Given the description of an element on the screen output the (x, y) to click on. 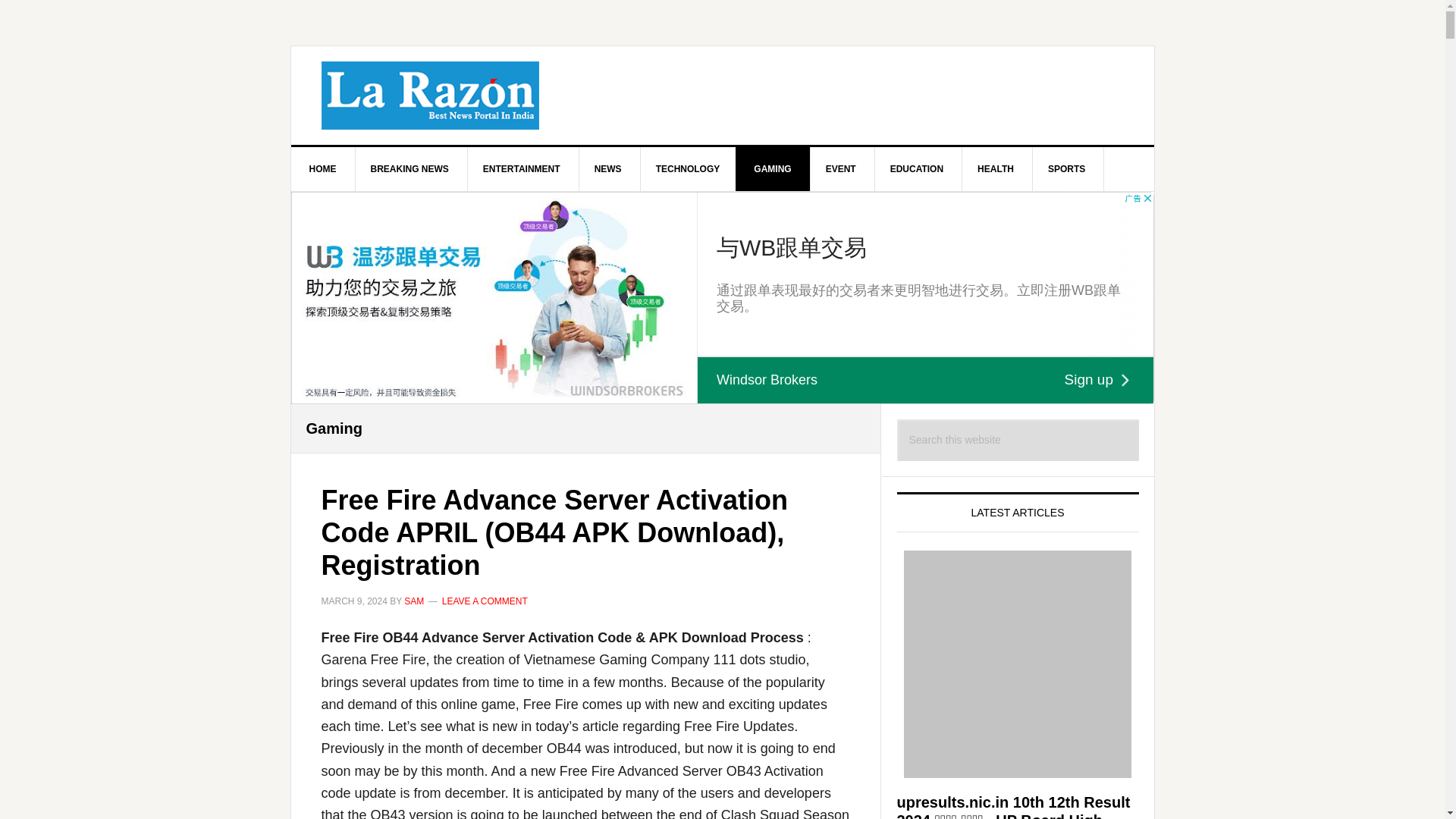
BREAKING NEWS (409, 168)
NEWS (608, 168)
EVENT (841, 168)
ENTERTAINMENT (521, 168)
TECHNOLOGY (688, 168)
GAMING (772, 168)
SPORTS (1066, 168)
LEAVE A COMMENT (484, 601)
